Given the description of an element on the screen output the (x, y) to click on. 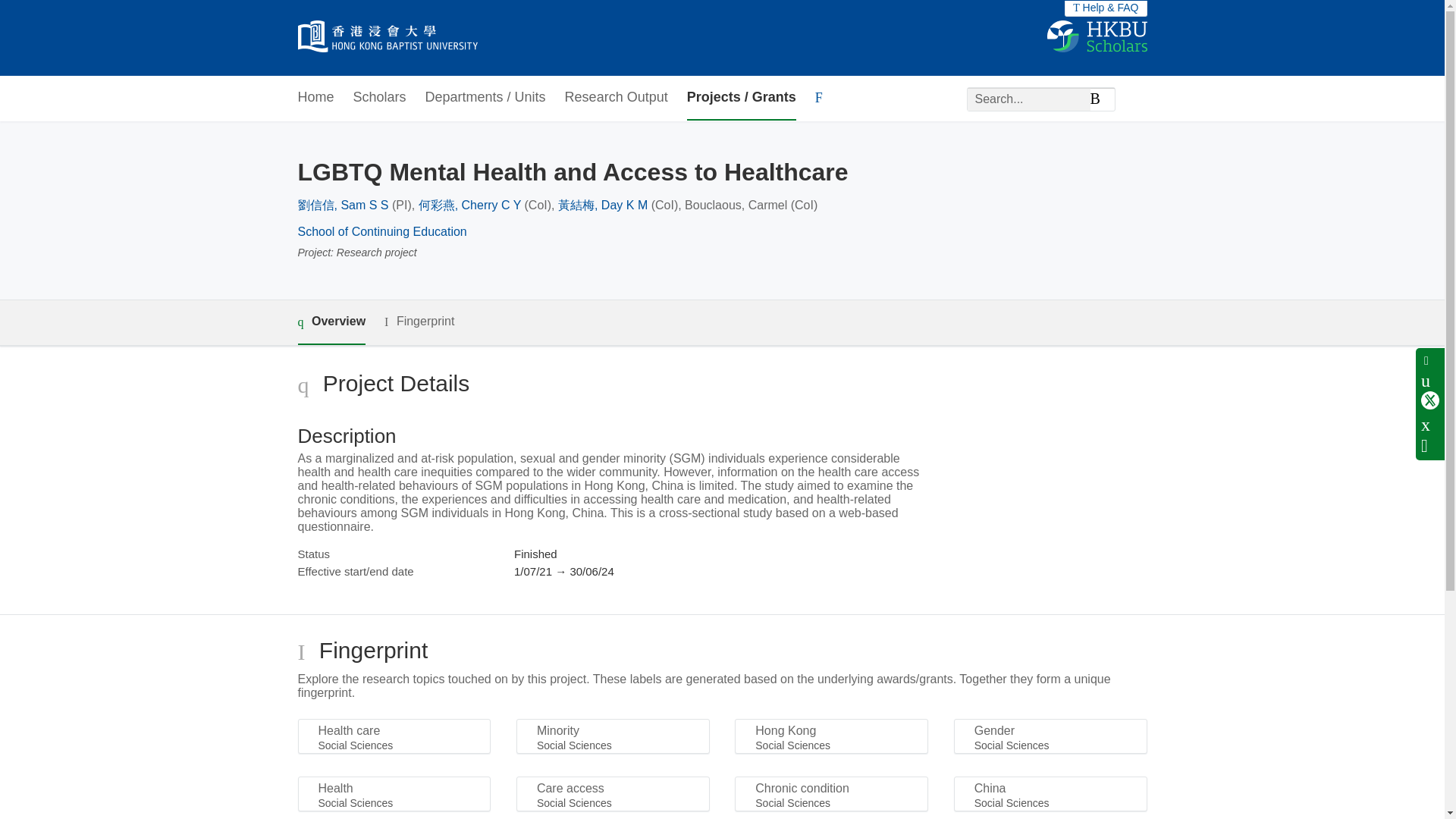
Overview (331, 322)
Fingerprint (419, 321)
Research Output (616, 98)
Home (315, 98)
Hong Kong Baptist University Home (387, 37)
School of Continuing Education (381, 231)
Scholars (379, 98)
